Given the description of an element on the screen output the (x, y) to click on. 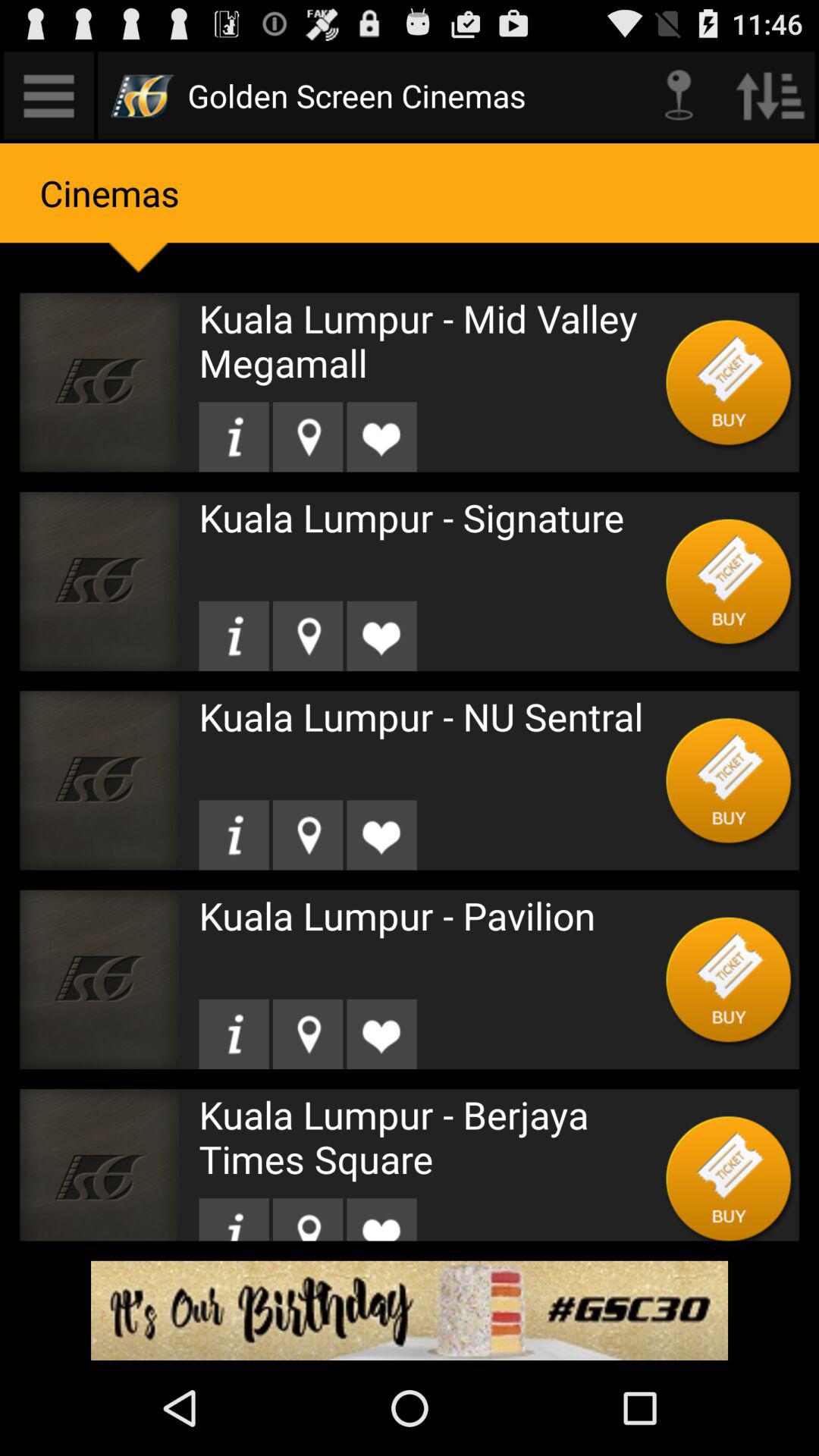
go to location button (234, 437)
